Given the description of an element on the screen output the (x, y) to click on. 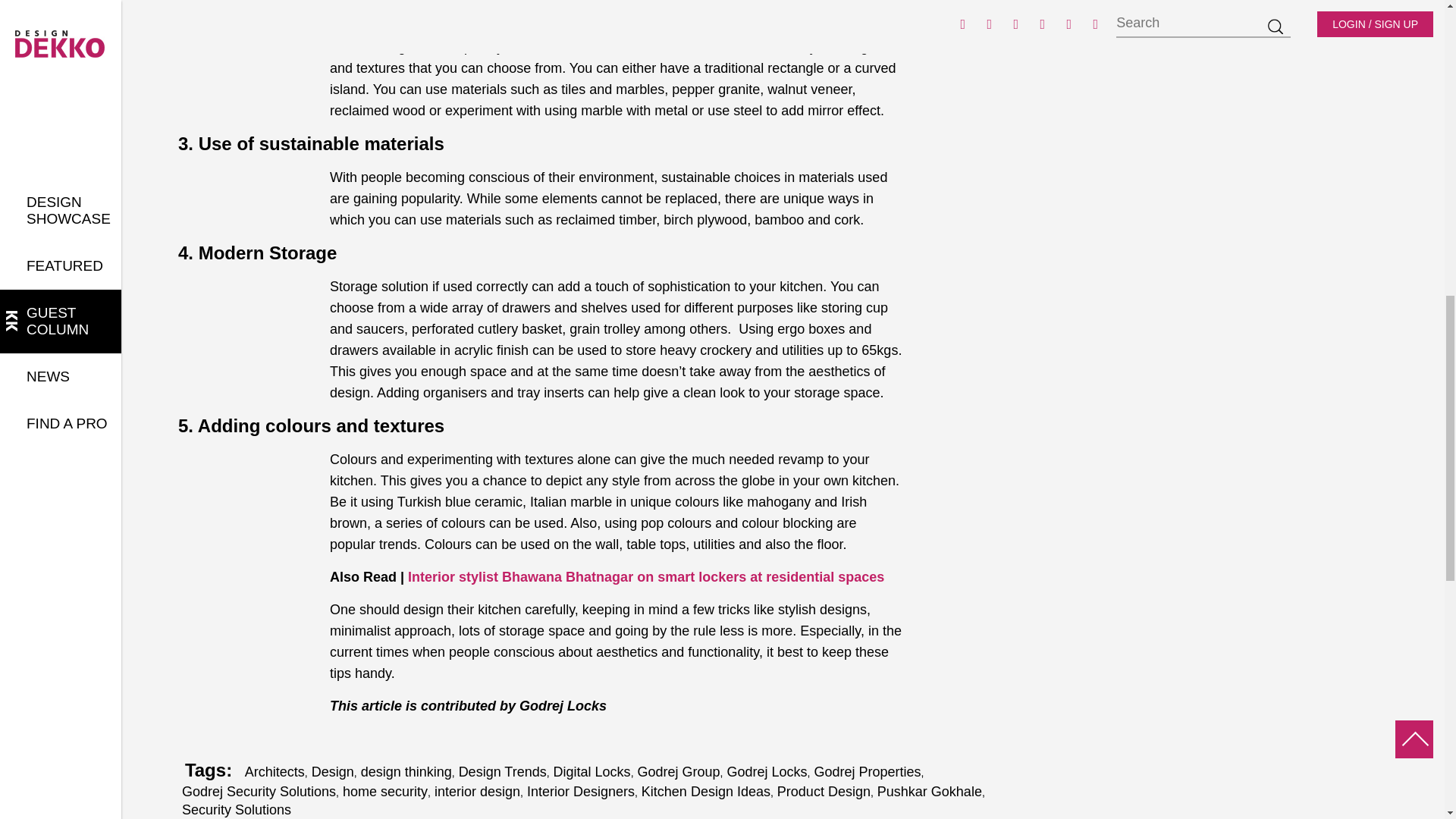
home security (385, 791)
Design (332, 771)
design thinking (406, 771)
Architects (274, 771)
Interior Designers (580, 791)
Design Trends (502, 771)
Godrej Security Solutions (259, 791)
Godrej Group (678, 771)
Digital Locks (591, 771)
